Given the description of an element on the screen output the (x, y) to click on. 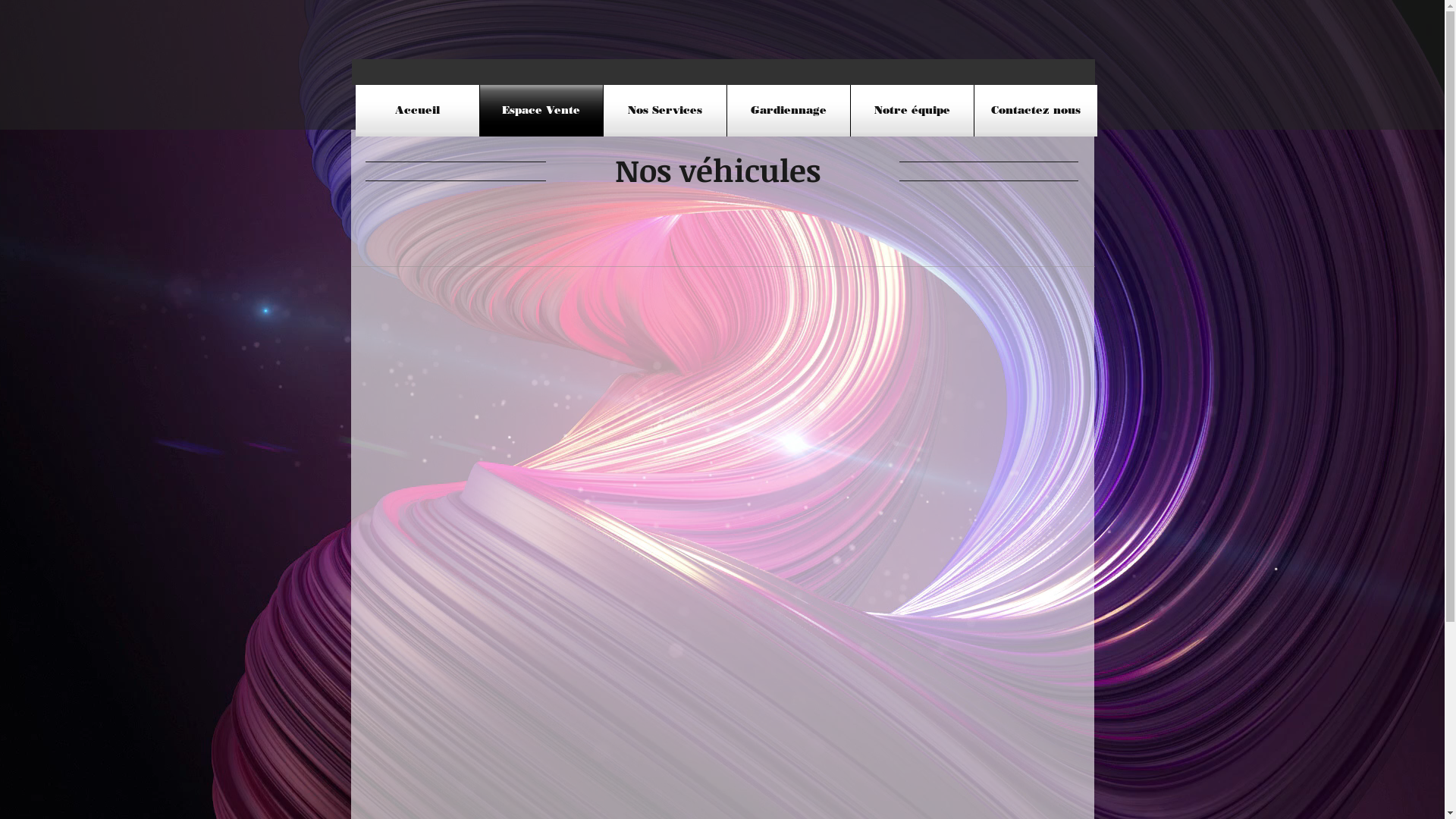
Accueil Element type: text (416, 110)
Nos Services Element type: text (664, 110)
Gardiennage Element type: text (787, 110)
Contactez nous Element type: text (1034, 110)
Espace Vente Element type: text (540, 110)
